Given the description of an element on the screen output the (x, y) to click on. 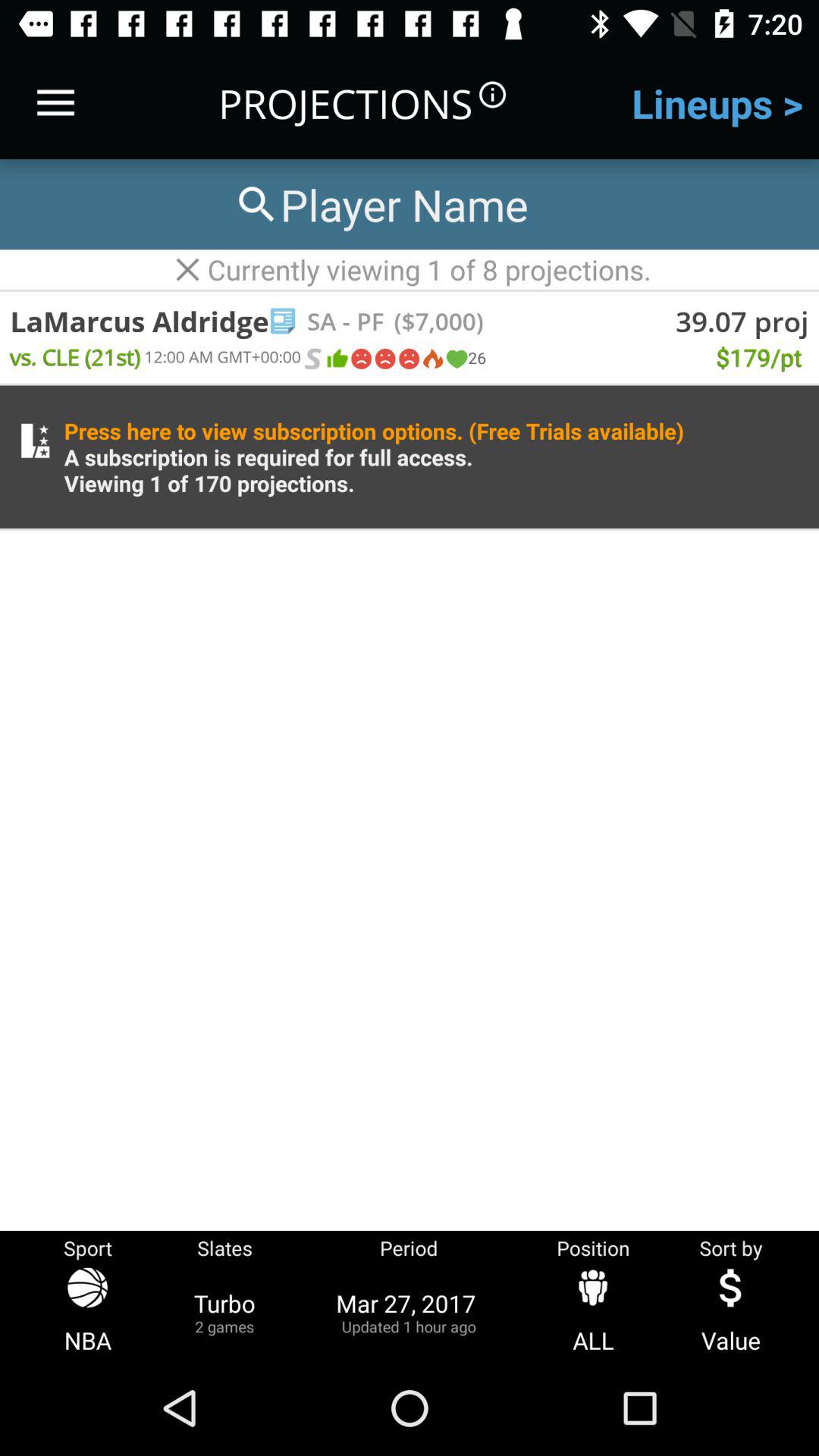
enter player name to search (380, 204)
